Given the description of an element on the screen output the (x, y) to click on. 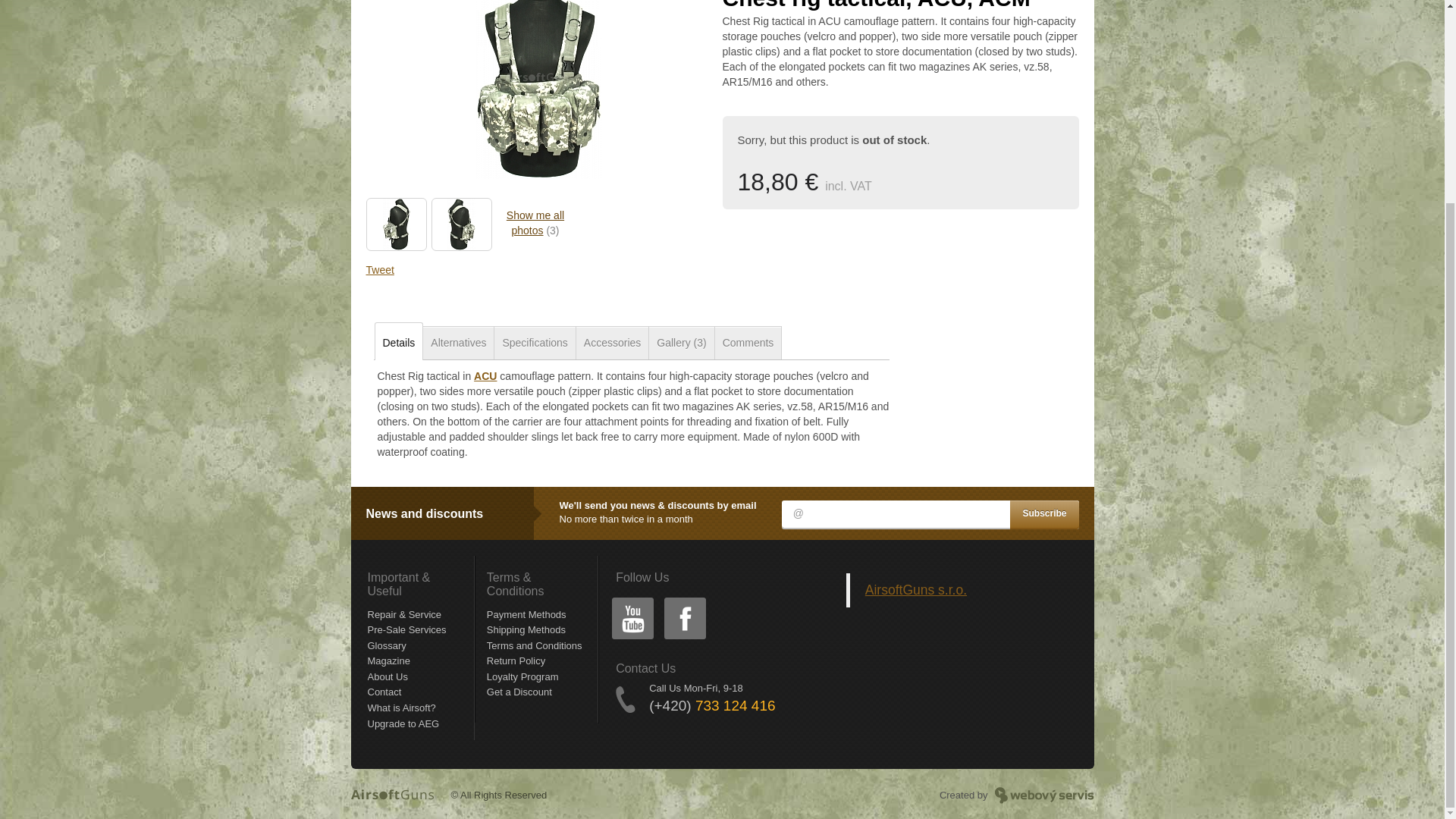
Subscribe (1044, 513)
Chest rig tactical, ACU, ACM (395, 224)
Chest rig tactical, ACU, ACM (461, 224)
Chest rig tactical, ACU, ACM (537, 99)
